Given the description of an element on the screen output the (x, y) to click on. 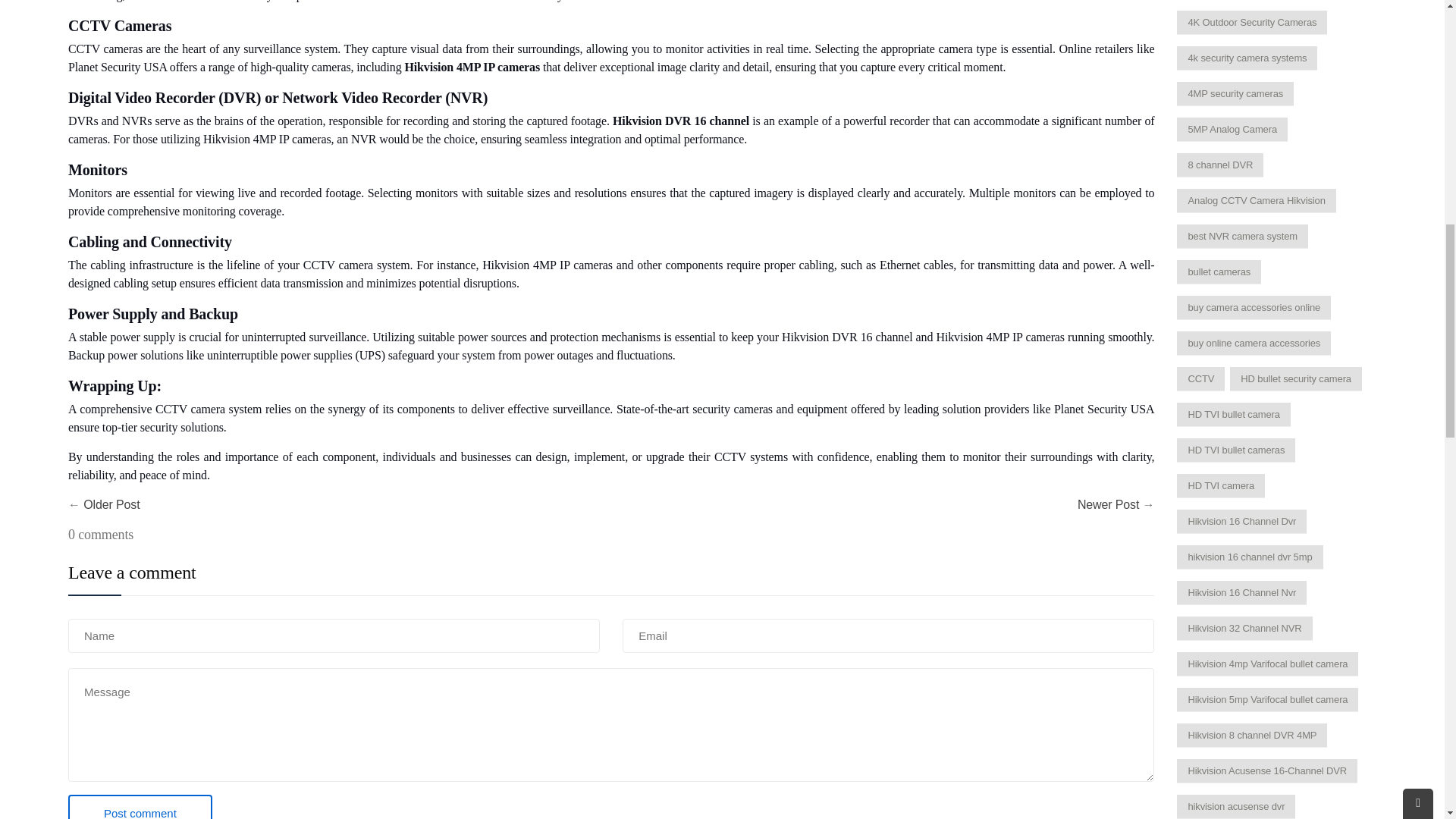
Show articles tagged Analog CCTV Camera Hikvision (1255, 200)
Post comment (140, 806)
Show articles tagged buy online camera accessories (1253, 343)
Show articles tagged 4MP security cameras (1235, 93)
Show articles tagged 4K Outdoor Security Cameras (1251, 22)
Show articles tagged 8 channel DVR (1219, 165)
Hikvision 4MP IP cameras (472, 66)
Show articles tagged 4k security camera systems (1246, 57)
Hikvision DVR 16 channel (680, 120)
Show articles tagged 5MP Analog Camera (1231, 129)
